Given the description of an element on the screen output the (x, y) to click on. 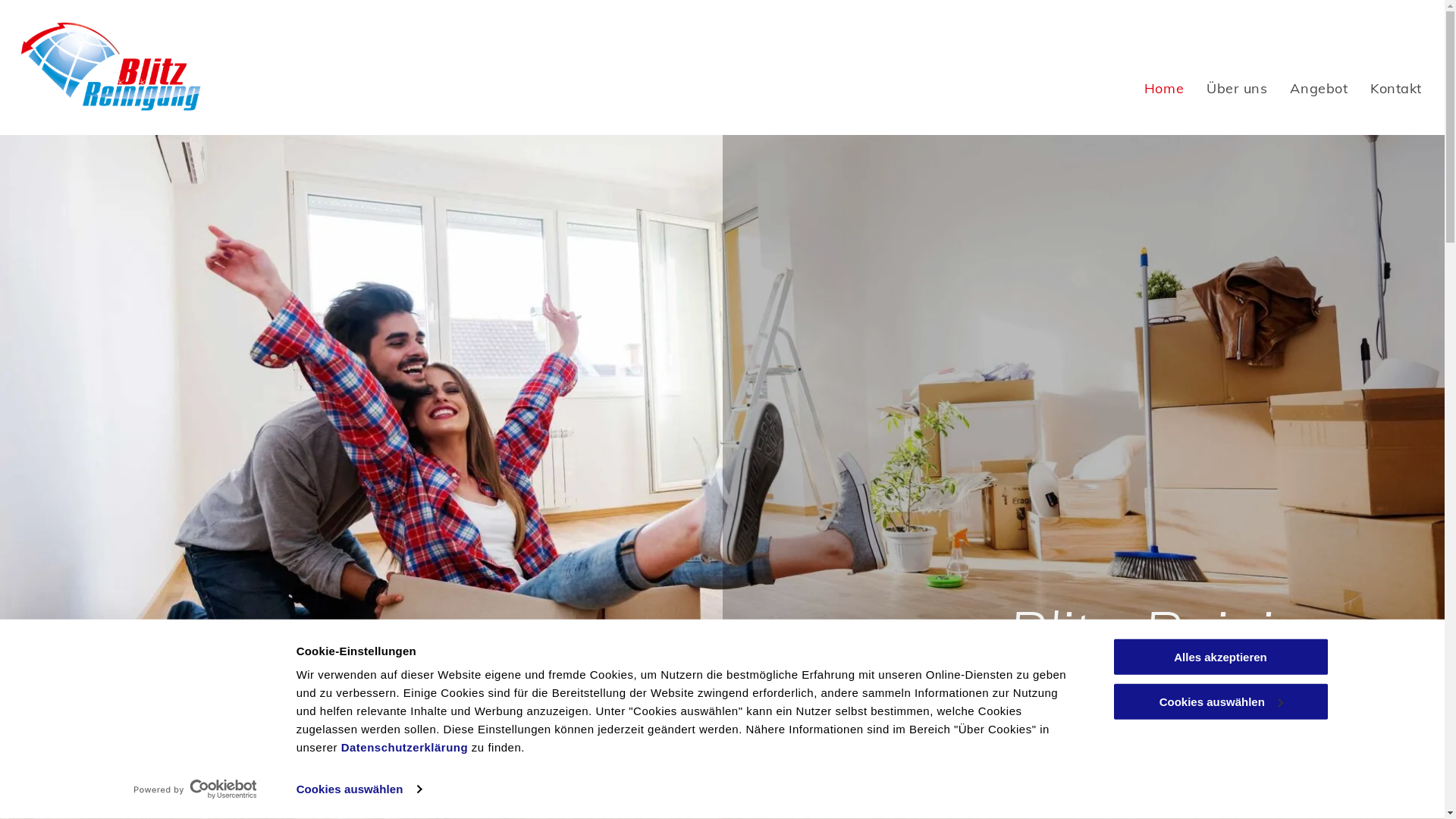
Home Element type: text (1163, 88)
Kontakt Element type: text (1395, 88)
Alles akzeptieren Element type: text (1219, 656)
Angebot Element type: text (1318, 88)
